Given the description of an element on the screen output the (x, y) to click on. 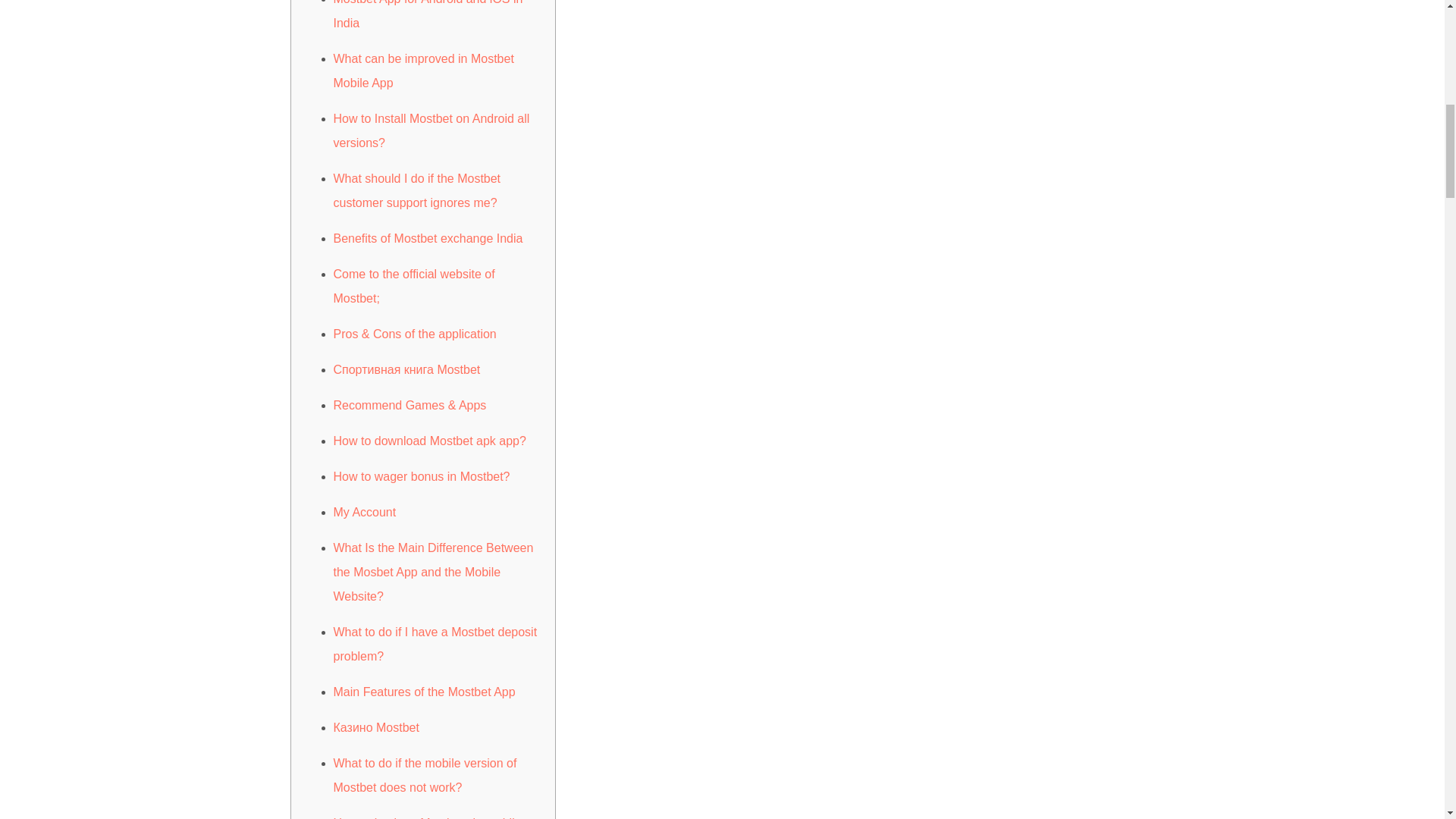
How to Install Mostbet on Android all versions? (431, 130)
Come to the official website of Mostbet; (414, 285)
Mostbet App for Android and iOS in India (427, 14)
Benefits of Mostbet exchange India (427, 237)
What should I do if the Mostbet customer support ignores me? (416, 190)
What can be improved in Mostbet Mobile App (423, 70)
Back to Top (1406, 30)
